Given the description of an element on the screen output the (x, y) to click on. 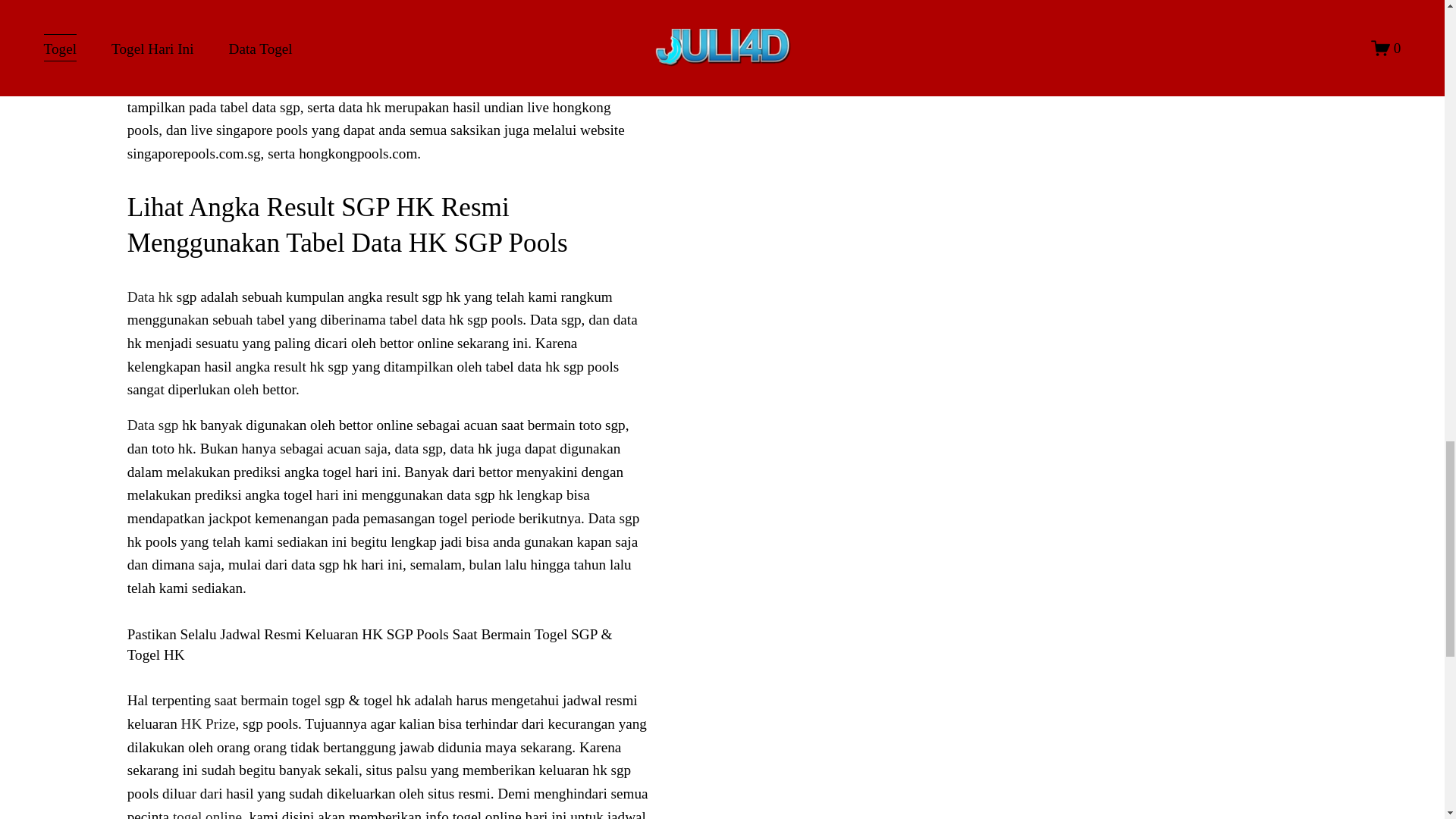
Keluaran sgp (166, 13)
Data sgp (153, 424)
Data hk (150, 296)
HK Prize (207, 723)
togel online (207, 814)
